Given the description of an element on the screen output the (x, y) to click on. 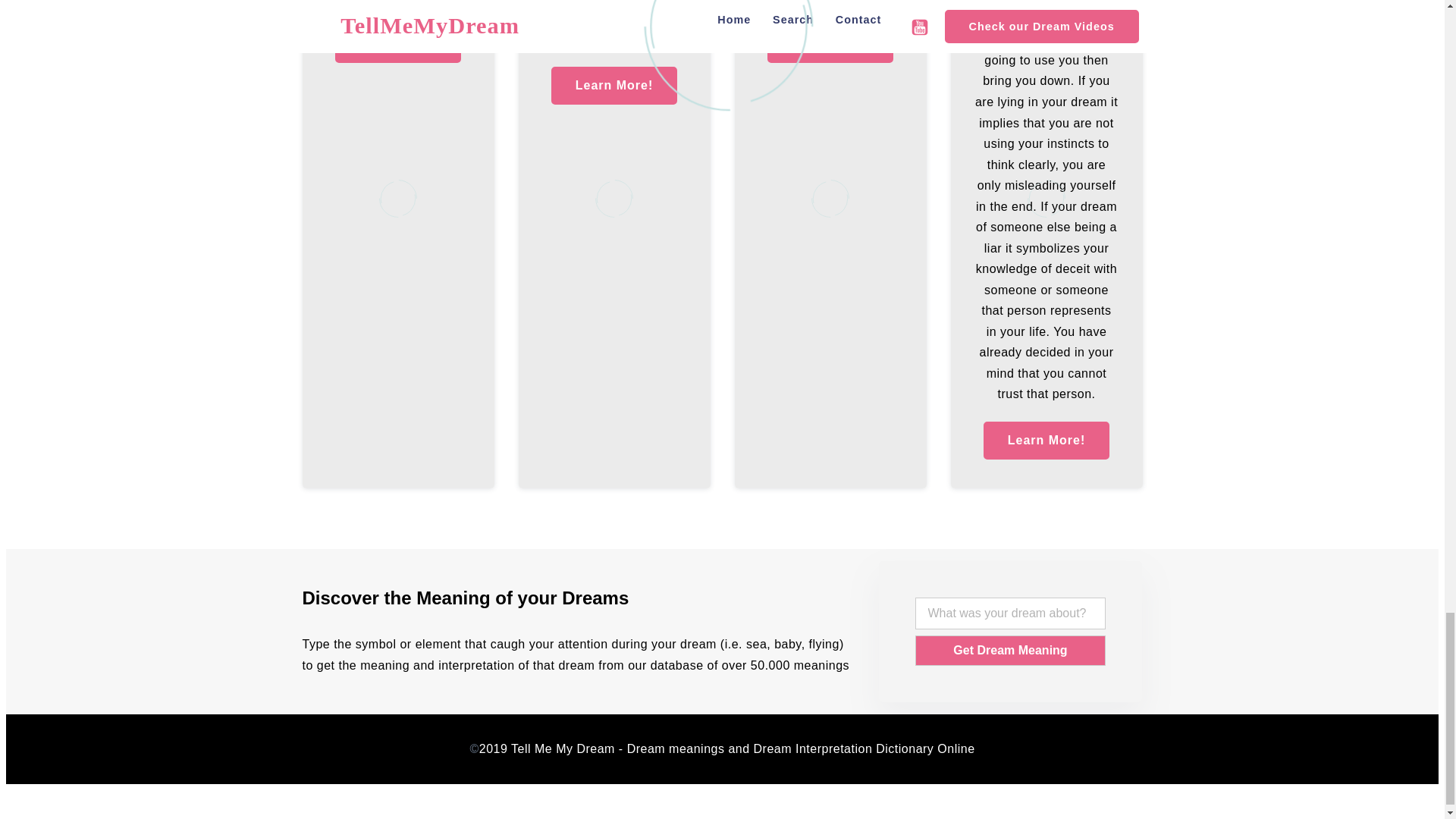
Get Dream Meaning (1010, 650)
